Given the description of an element on the screen output the (x, y) to click on. 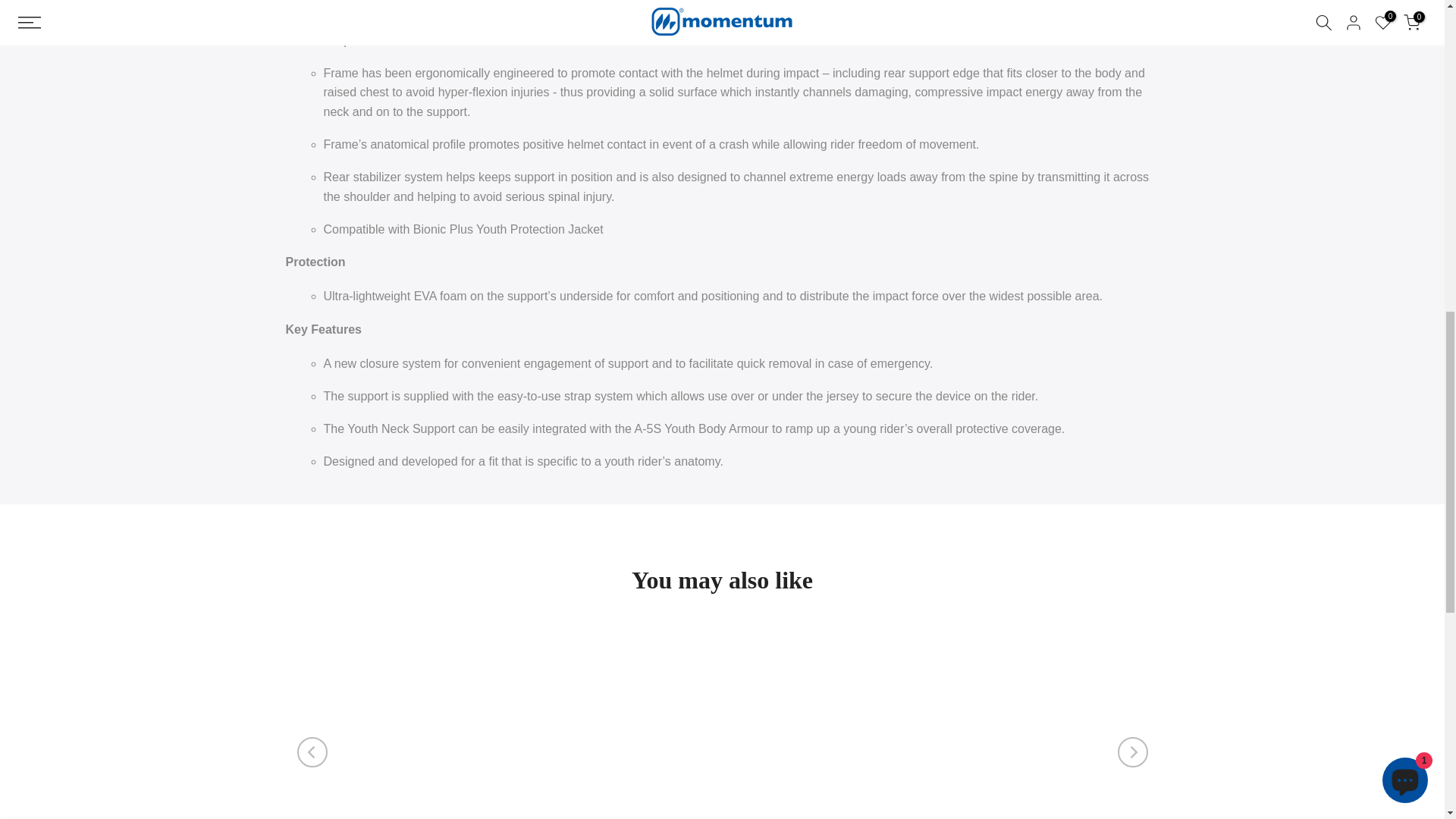
1 (920, 35)
